Given the description of an element on the screen output the (x, y) to click on. 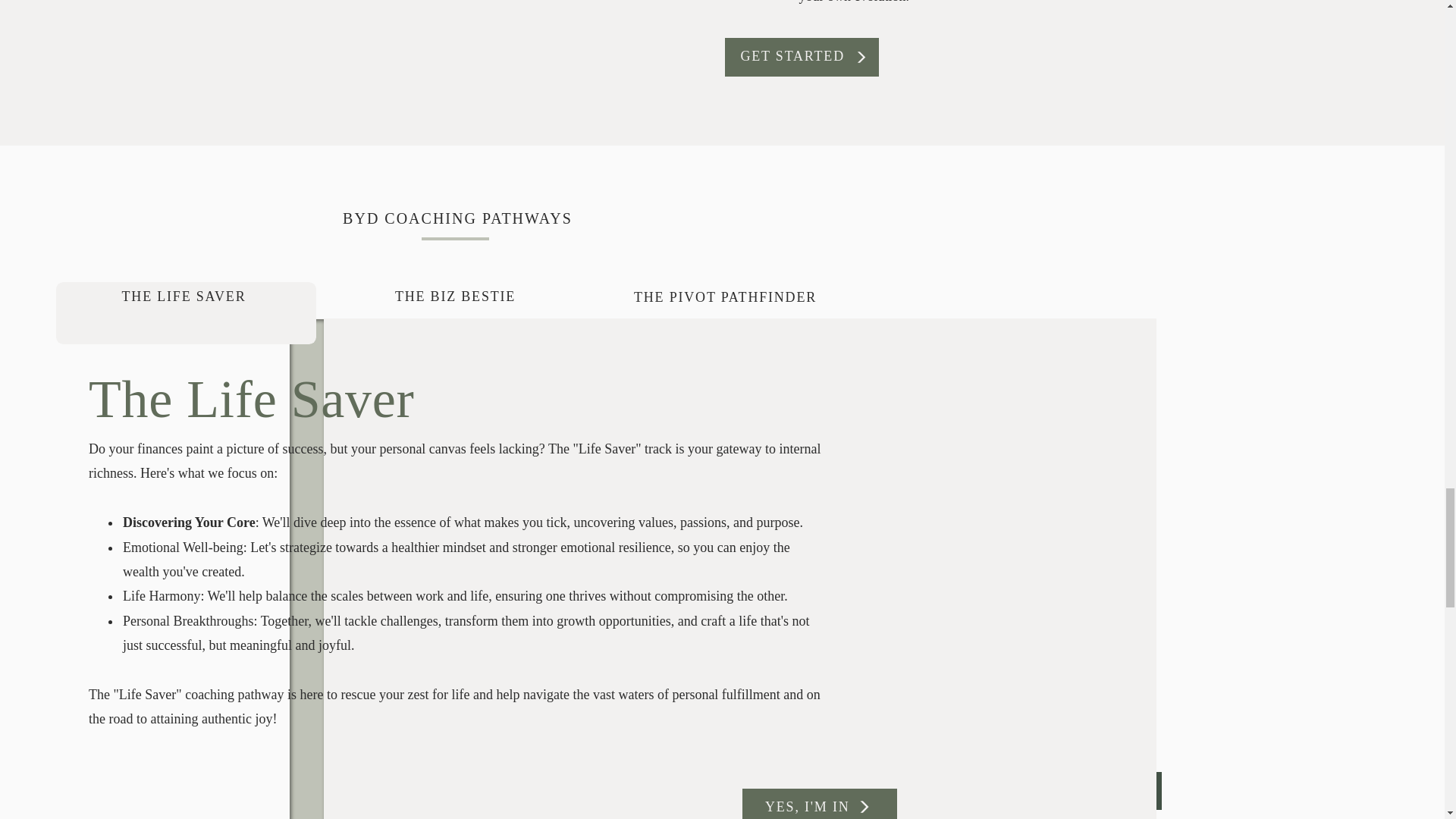
THE BIZ BESTIE (454, 303)
GET STARTED (808, 56)
YES, I'M IN (812, 807)
THE LIFE SAVER (184, 303)
THE PIVOT PATHFINDER (724, 304)
